Given the description of an element on the screen output the (x, y) to click on. 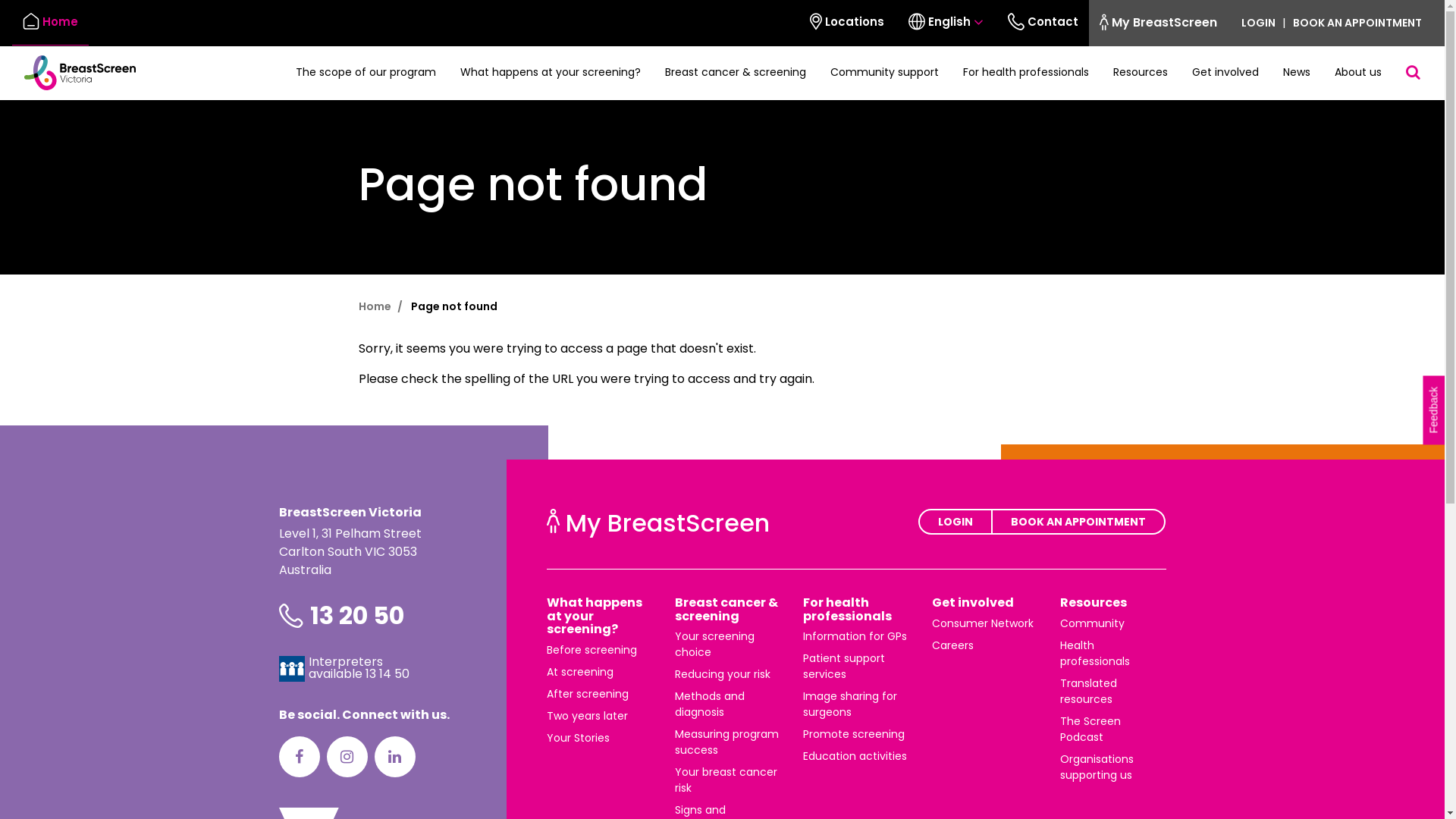
Community support Element type: text (884, 73)
What happens at your screening? Element type: text (550, 73)
Your breast cancer risk Element type: text (725, 779)
Consumer Network Element type: text (982, 622)
Breast cancer & screening Element type: text (735, 73)
Community Element type: text (1092, 622)
Methods and diagnosis Element type: text (709, 703)
Information for GPs Element type: text (854, 635)
News Element type: text (1296, 73)
13 20 50 Element type: text (356, 615)
Patient support services Element type: text (843, 665)
Organisations supporting us Element type: text (1096, 766)
BOOK AN APPOINTMENT Element type: text (1078, 521)
Contact Element type: text (1042, 22)
Education activities Element type: text (854, 755)
LOGIN Element type: text (1254, 23)
Locations Element type: text (846, 22)
Get involved Element type: text (972, 602)
Two years later Element type: text (586, 715)
LOGIN Element type: text (955, 521)
Health professionals Element type: text (1094, 652)
Measuring program success Element type: text (726, 741)
What happens at your screening? Element type: text (593, 615)
English Element type: text (945, 22)
About us Element type: text (1357, 73)
Careers Element type: text (952, 644)
For health professionals Element type: text (847, 608)
Before screening Element type: text (591, 649)
BOOK AN APPOINTMENT Element type: text (1360, 23)
Translated resources Element type: text (1088, 690)
Get involved Element type: text (1224, 73)
For health professionals Element type: text (1025, 73)
Your Stories Element type: text (577, 737)
Resources Element type: text (1093, 602)
Promote screening Element type: text (853, 733)
My BreastScreen Element type: text (1157, 23)
Image sharing for surgeons Element type: text (850, 703)
Reducing your risk Element type: text (722, 673)
After screening Element type: text (586, 693)
Home Element type: text (373, 305)
Resources Element type: text (1140, 73)
At screening Element type: text (579, 671)
Home Element type: text (50, 22)
13 14 50 Element type: text (387, 673)
The scope of our program Element type: text (365, 73)
Breast cancer & screening Element type: text (726, 608)
The Screen Podcast Element type: text (1090, 728)
Your screening choice Element type: text (714, 643)
